Given the description of an element on the screen output the (x, y) to click on. 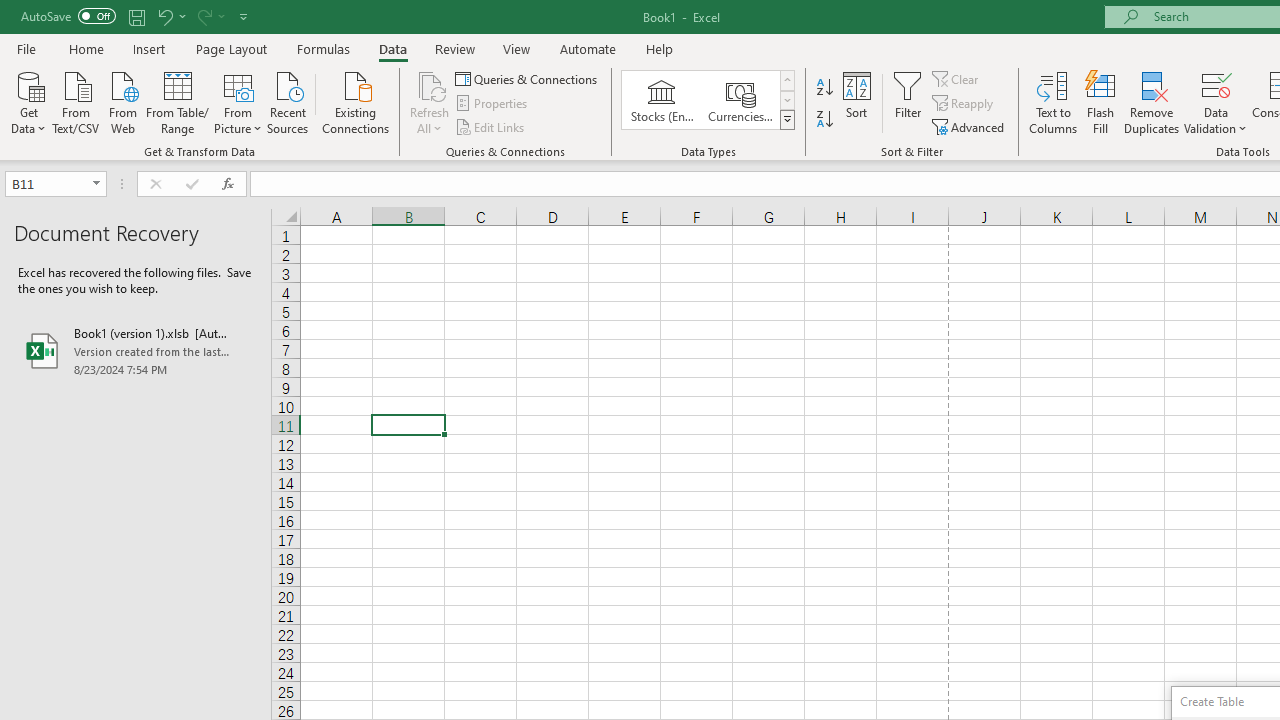
Advanced... (970, 126)
Recent Sources (287, 101)
Reapply (964, 103)
Remove Duplicates (1151, 102)
From Text/CSV (75, 101)
From Picture (238, 101)
